Given the description of an element on the screen output the (x, y) to click on. 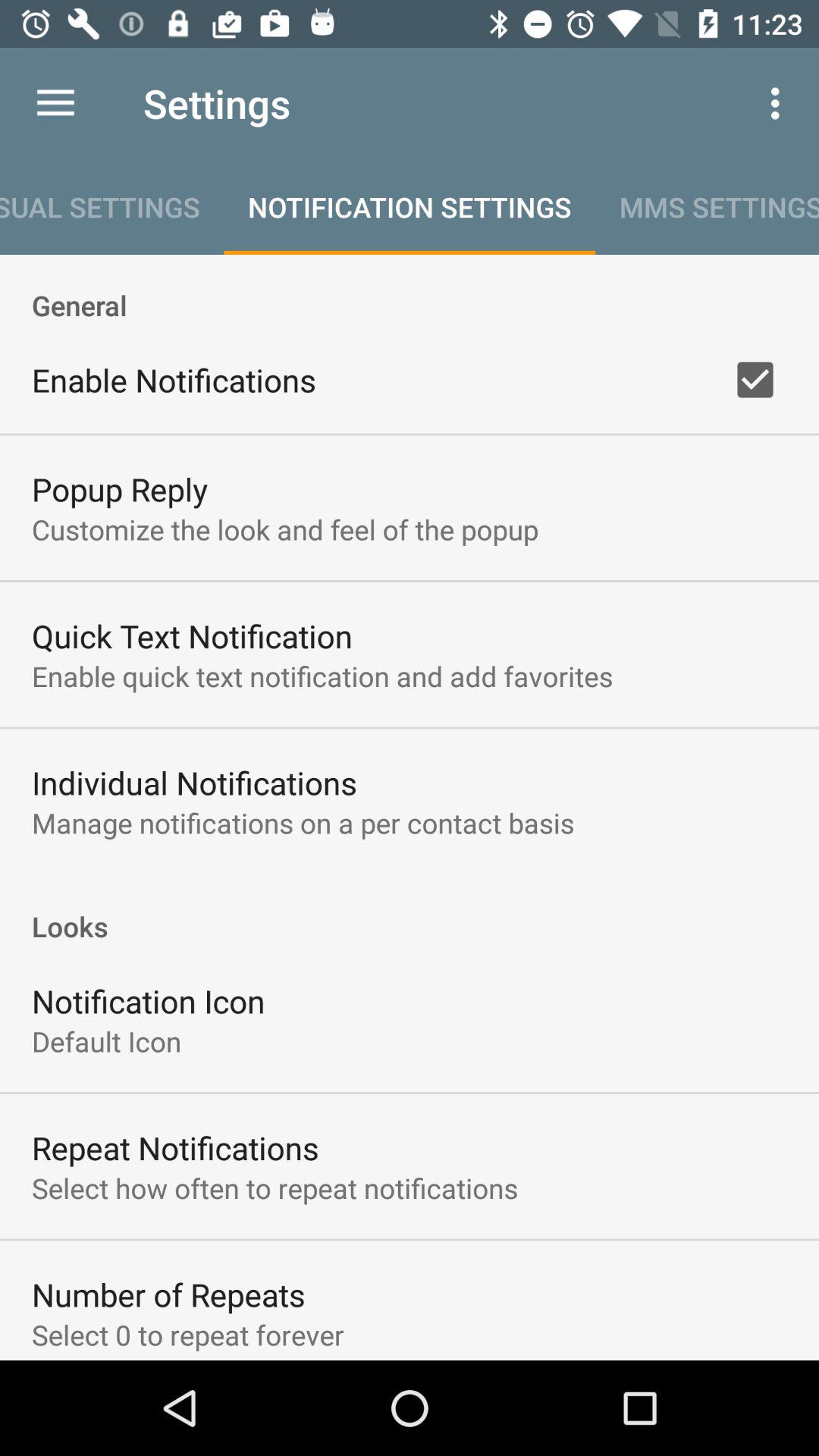
press individual notifications item (194, 782)
